Given the description of an element on the screen output the (x, y) to click on. 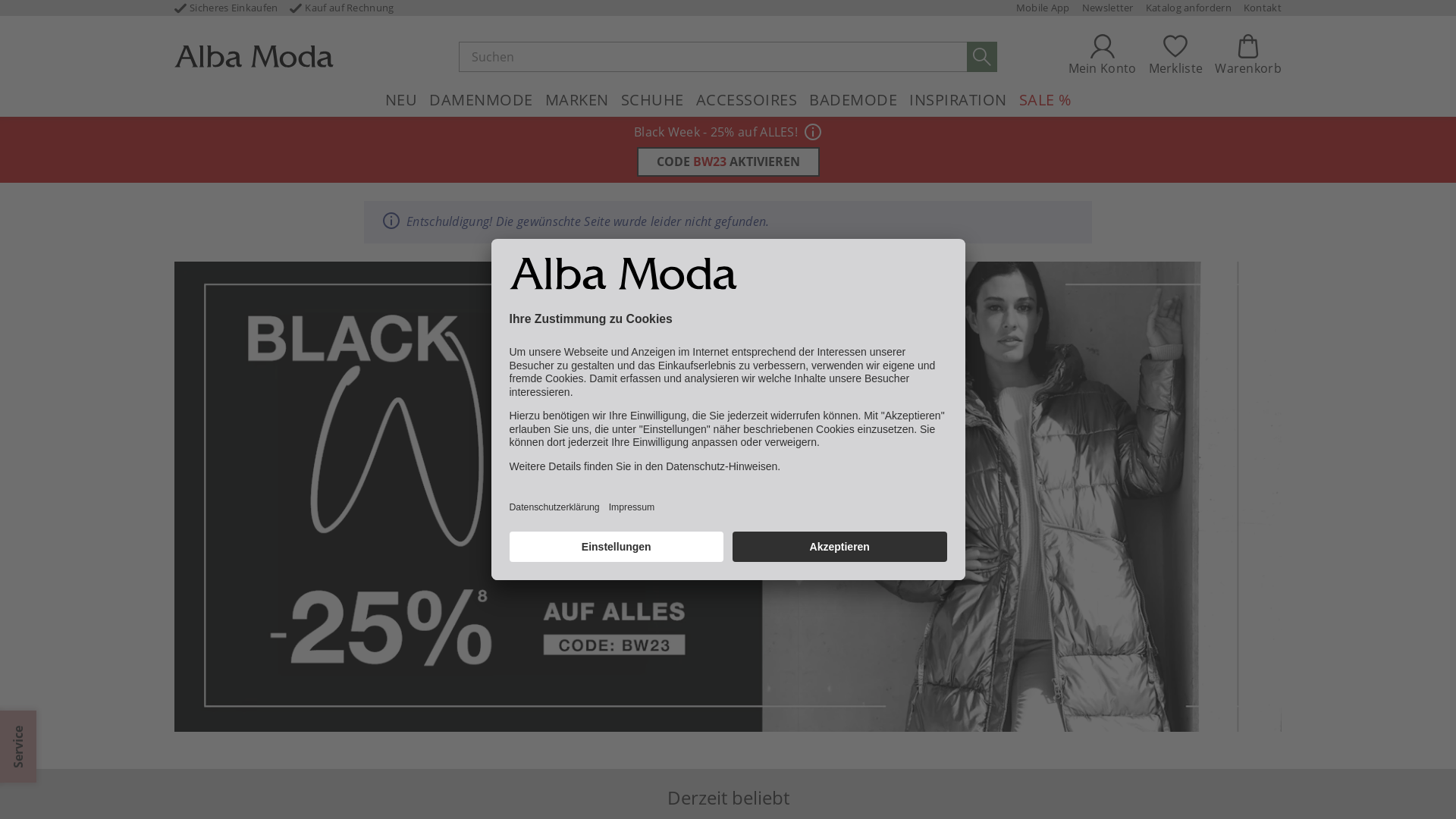
SALE % Element type: text (1045, 99)
SCHUHE Element type: text (651, 99)
INSPIRATION Element type: text (958, 99)
Mein Konto Element type: text (1102, 56)
ACCESSOIRES Element type: text (746, 99)
Newsletter Element type: text (1107, 7)
CODE 
BW23
 AKTIVIEREN Element type: text (728, 161)
NEU Element type: text (401, 99)
Kontakt Element type: text (1262, 7)
Warenkorb Element type: text (1247, 56)
DAMENMODE Element type: text (481, 99)
Service Element type: text (36, 728)
Black Week - 25% auf ALLES! Element type: text (715, 131)
BADEMODE Element type: text (853, 99)
Katalog anfordern Element type: text (1188, 7)
MARKEN Element type: text (576, 99)
Merkliste Element type: text (1175, 56)
Mobile App Element type: text (1043, 7)
